Given the description of an element on the screen output the (x, y) to click on. 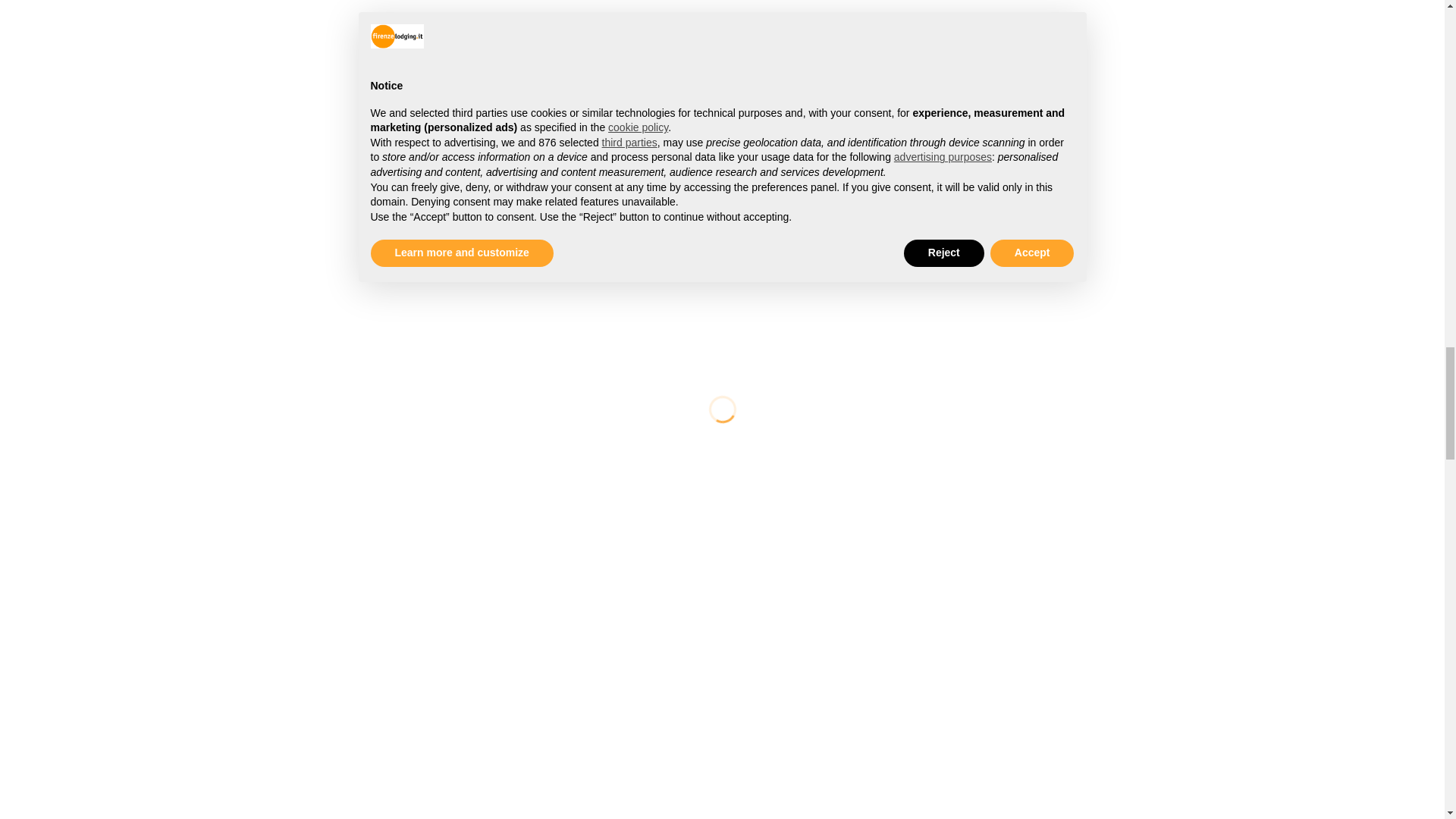
Show all images (39, 107)
Reviews (77, 537)
Submit (27, 743)
